Given the description of an element on the screen output the (x, y) to click on. 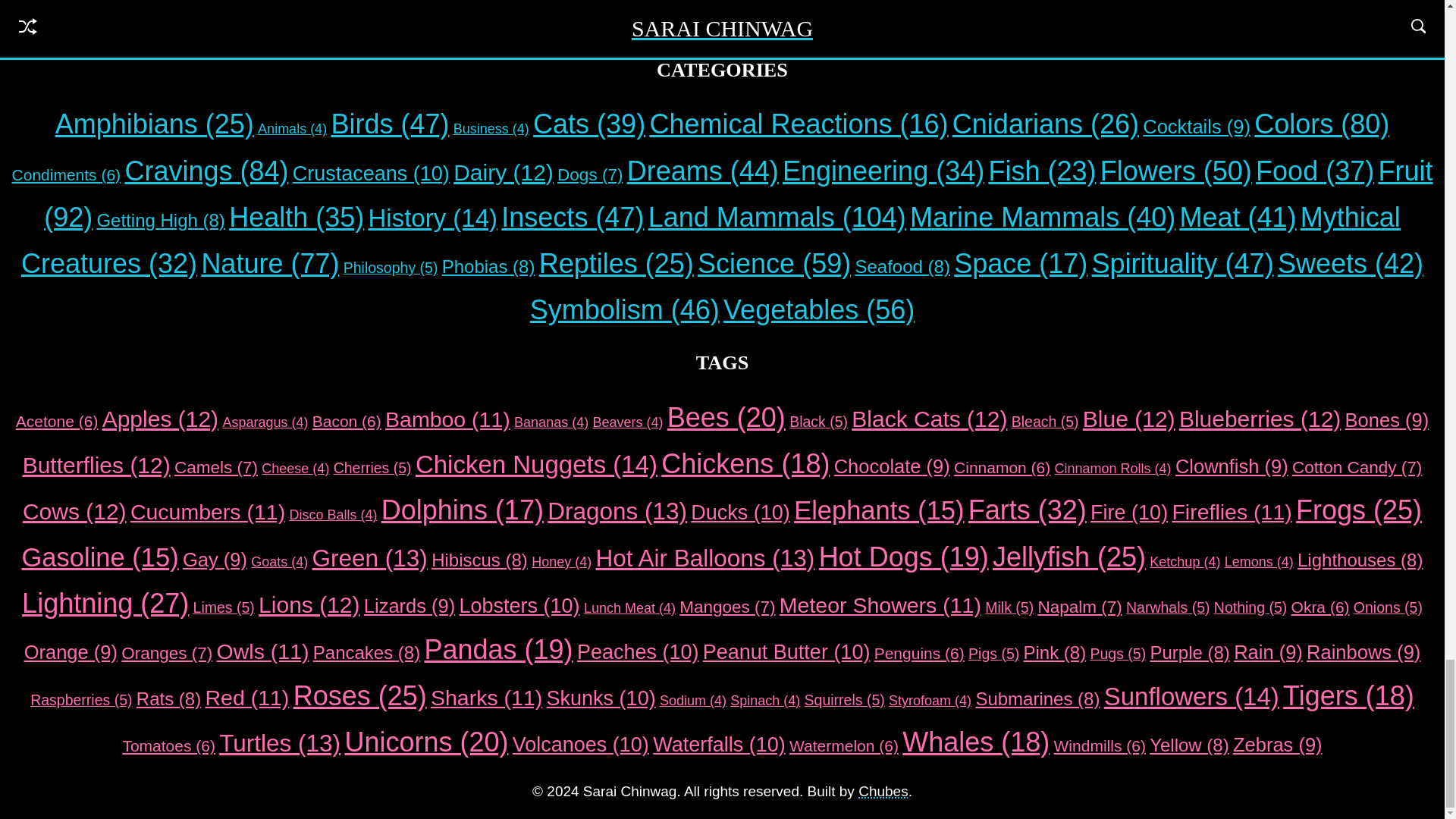
Contact (796, 16)
About (642, 16)
Extra Chill (715, 16)
